Given the description of an element on the screen output the (x, y) to click on. 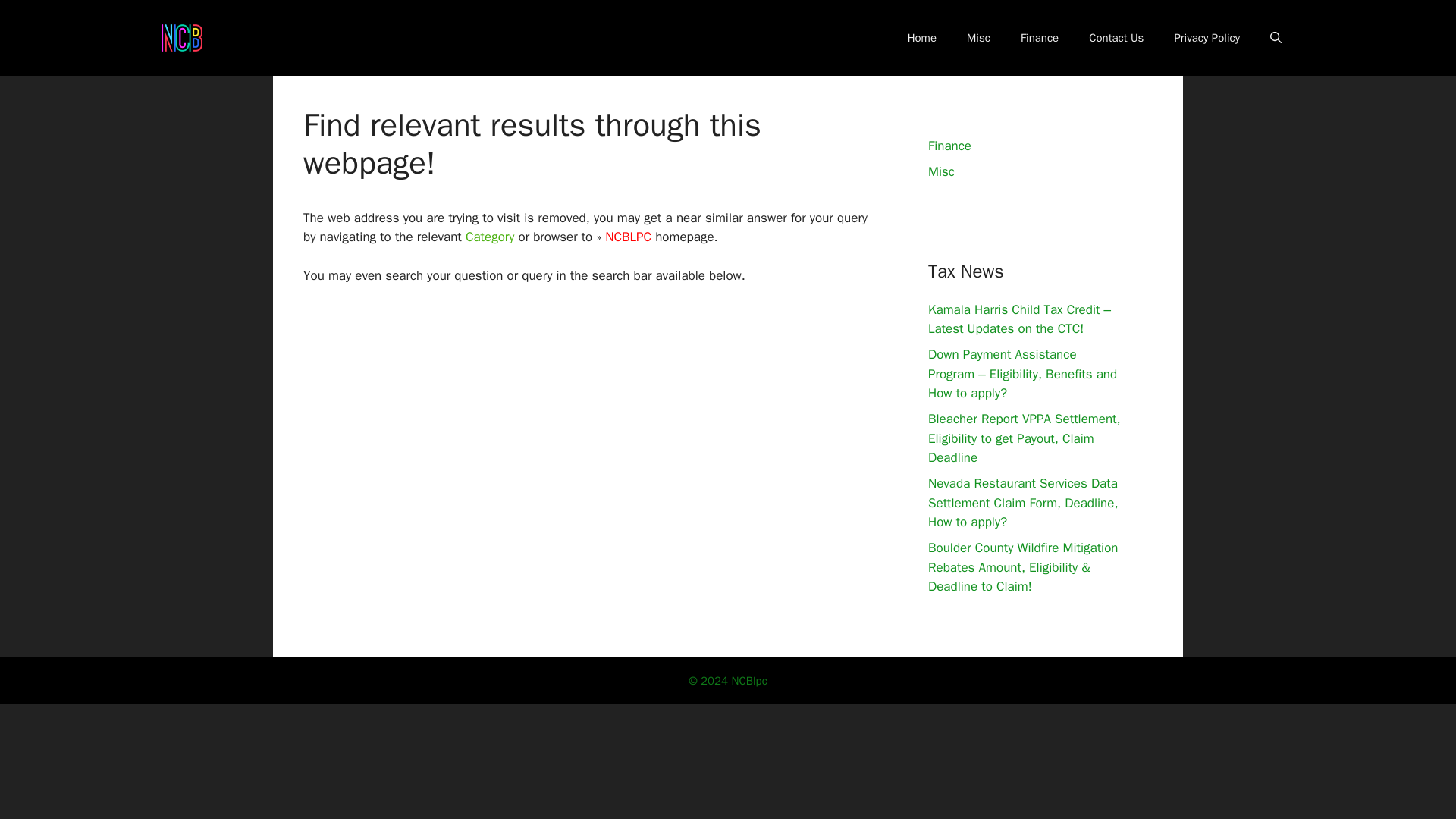
Misc (941, 171)
Finance (1040, 37)
Contact Us (1116, 37)
Home (922, 37)
Finance (949, 145)
Misc (979, 37)
Privacy Policy (1206, 37)
NCBLPC (625, 236)
